Given the description of an element on the screen output the (x, y) to click on. 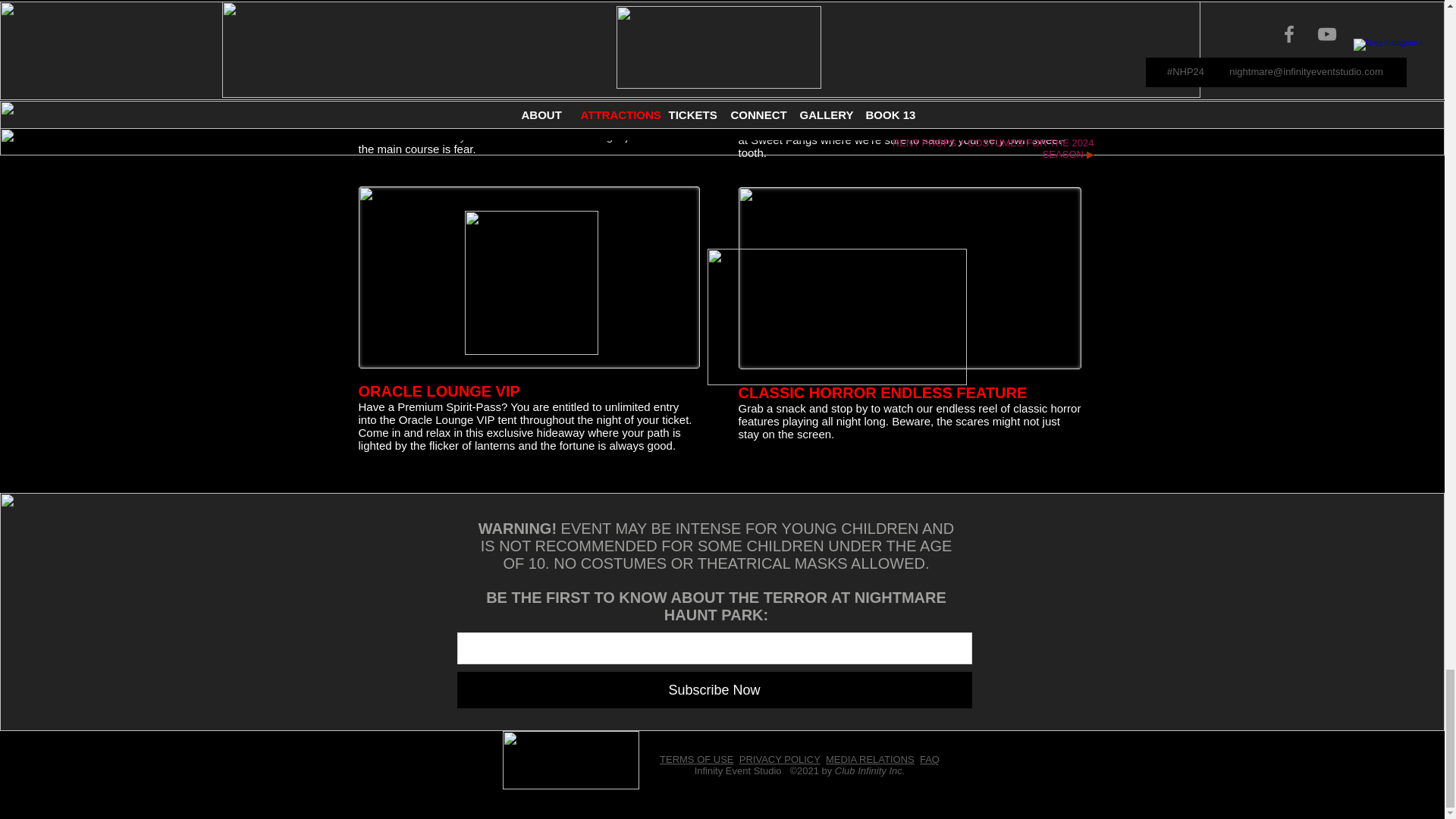
MEDIA RELATIONS (869, 758)
Infinity Event Studio (737, 770)
beastro1.png (457, 48)
TERMS OF USE (696, 758)
Subscribe Now (714, 689)
PRIVACY POLICY (780, 758)
FAQ (929, 758)
